Given the description of an element on the screen output the (x, y) to click on. 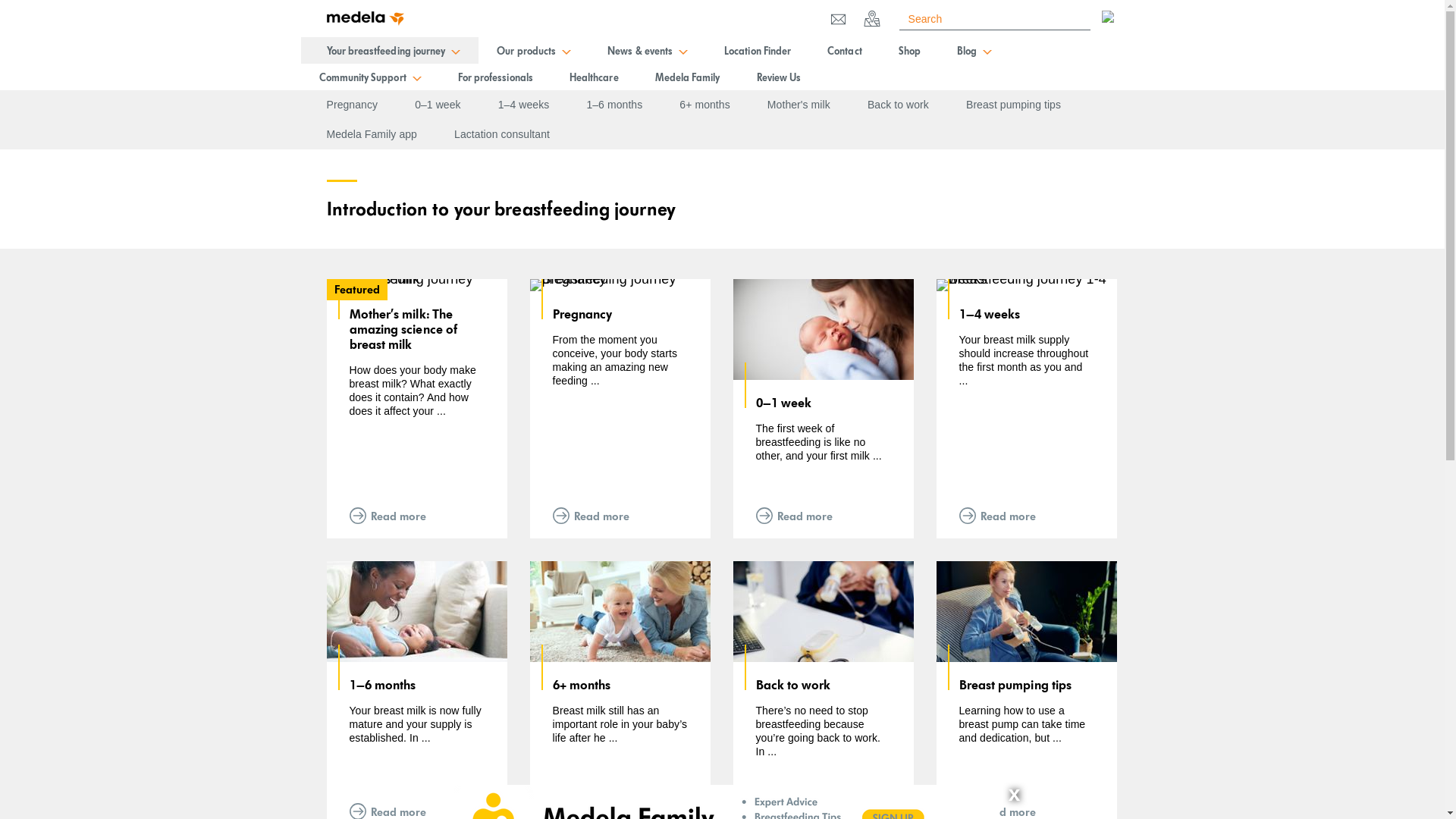
Read more Element type: text (619, 515)
Healthcare Element type: text (594, 76)
Contact Element type: text (844, 50)
Read more Element type: text (822, 515)
Read more Element type: text (1025, 515)
Location Finder Element type: text (757, 50)
6+ months Element type: text (619, 684)
Lactation consultant Element type: text (501, 134)
Pregnancy Element type: text (351, 104)
Breast pumping tips Element type: text (1025, 684)
Medela Family app Element type: text (370, 134)
Mother's milk Element type: text (798, 104)
Read more Element type: text (416, 515)
Medela Family Element type: text (687, 76)
Breast pumping tips Element type: text (1013, 104)
Medela Home Element type: hover (364, 20)
Back to work Element type: text (822, 684)
Pregnancy Element type: text (619, 313)
6+ months Element type: text (704, 104)
Back to work Element type: text (898, 104)
For professionals Element type: text (495, 76)
Shop Element type: text (909, 50)
Review Us Element type: text (778, 76)
